Given the description of an element on the screen output the (x, y) to click on. 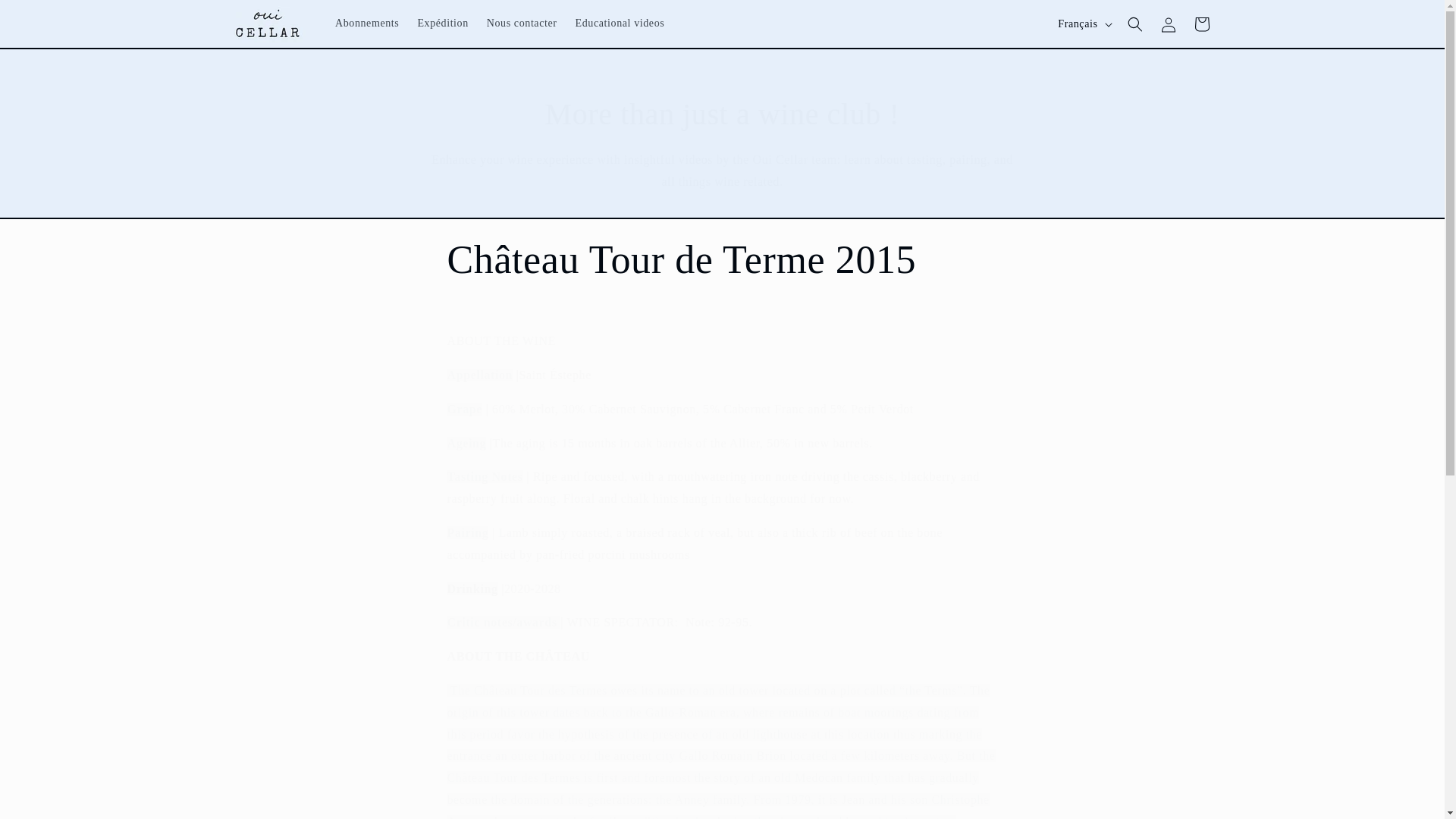
Nous contacter (521, 23)
Abonnements (366, 23)
Panier (1201, 23)
Educational videos (620, 23)
Ignorer et passer au contenu (45, 17)
Connexion (1168, 23)
More than just a wine club ! (721, 114)
